Given the description of an element on the screen output the (x, y) to click on. 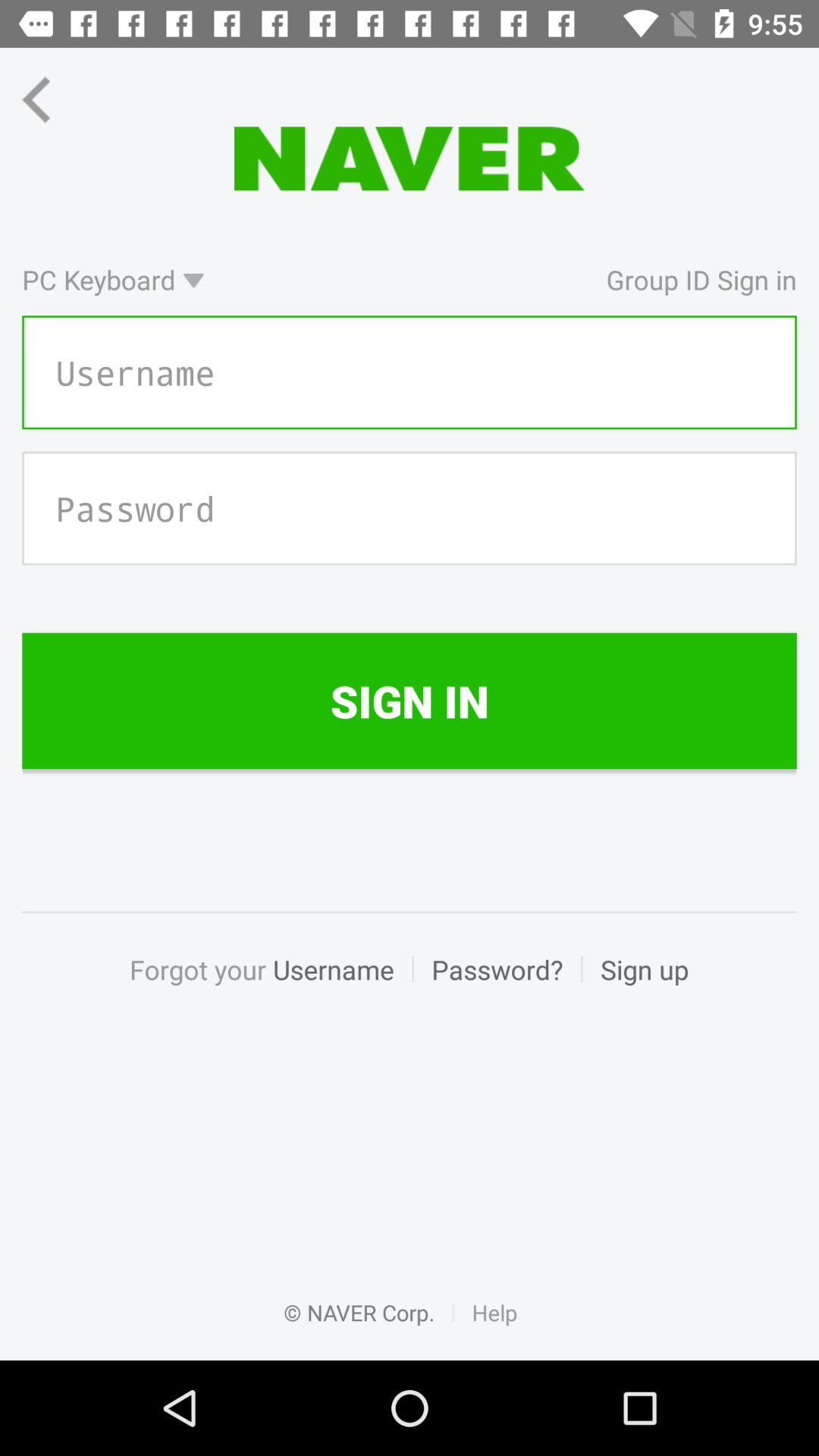
select help (494, 1328)
